Given the description of an element on the screen output the (x, y) to click on. 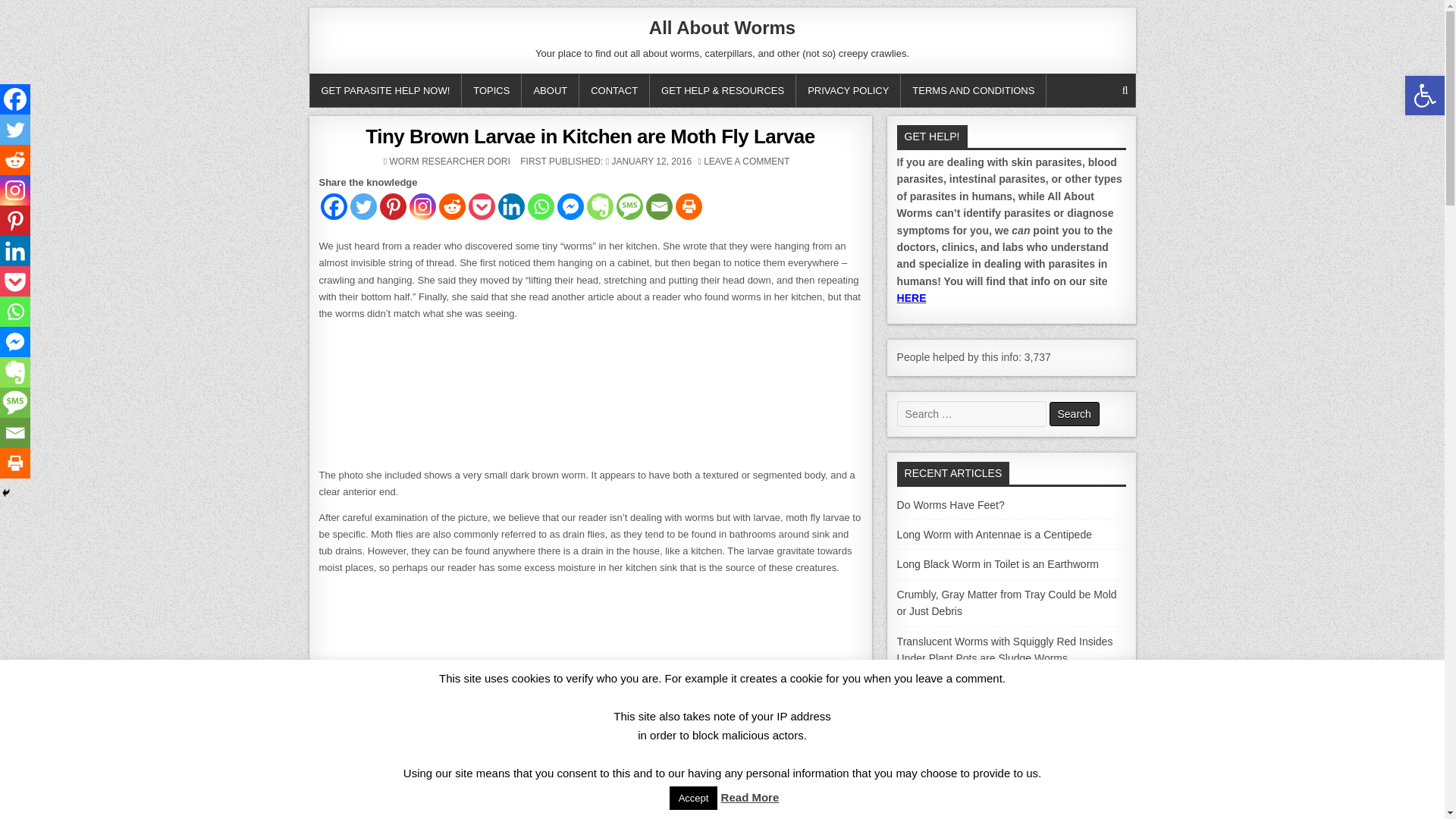
Search (1074, 413)
Twitter (363, 206)
WORM RESEARCHER DORI (450, 161)
Linkedin (510, 206)
Tiny Brown Larvae in Kitchen are Moth Fly Larvae (589, 136)
GET PARASITE HELP NOW! (384, 90)
Accessibility Tools (1424, 95)
All About Worms (721, 27)
Whatsapp (540, 206)
PRIVACY POLICY (848, 90)
